Given the description of an element on the screen output the (x, y) to click on. 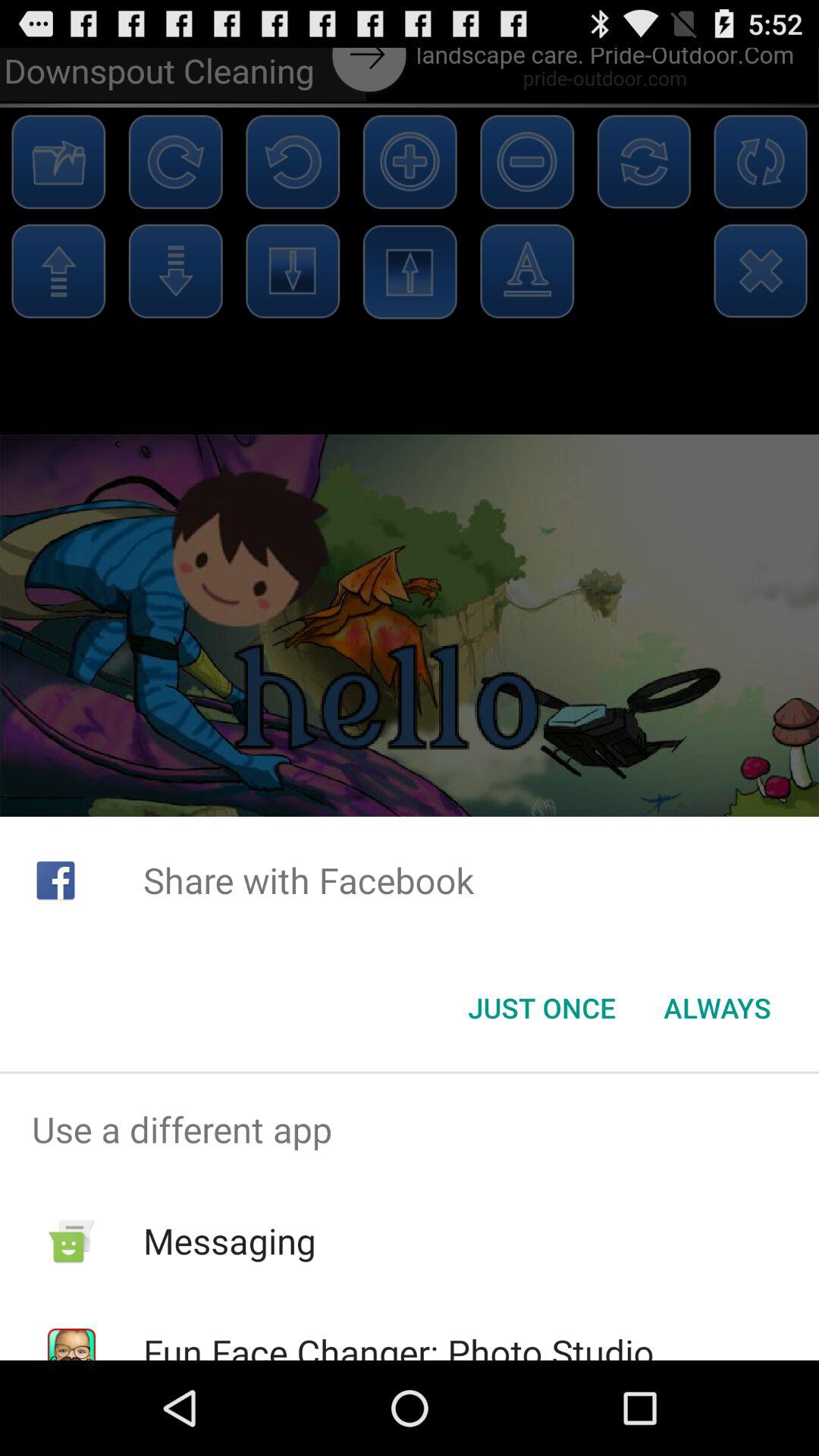
click the just once item (541, 1007)
